Given the description of an element on the screen output the (x, y) to click on. 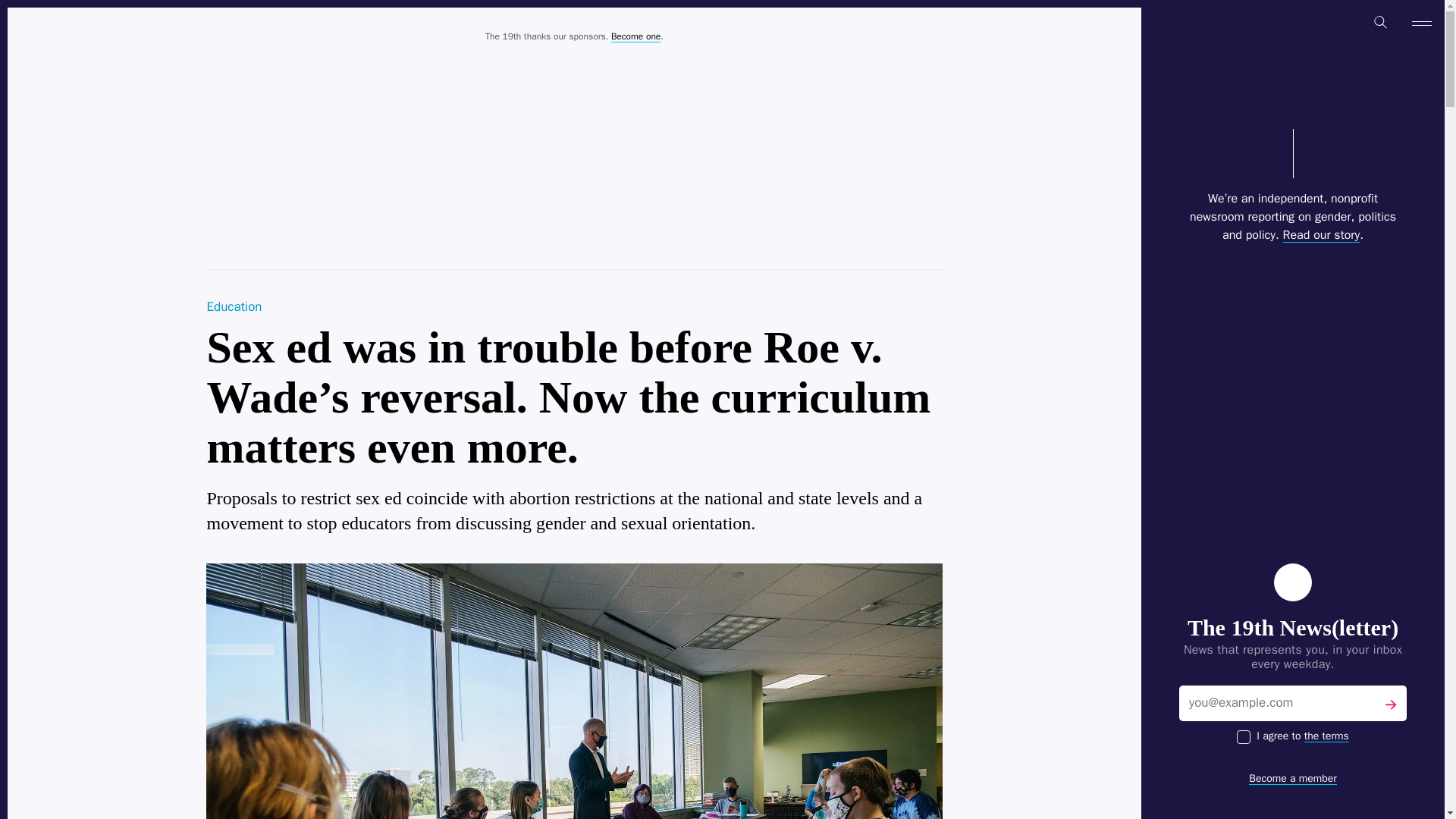
on (1243, 736)
